Given the description of an element on the screen output the (x, y) to click on. 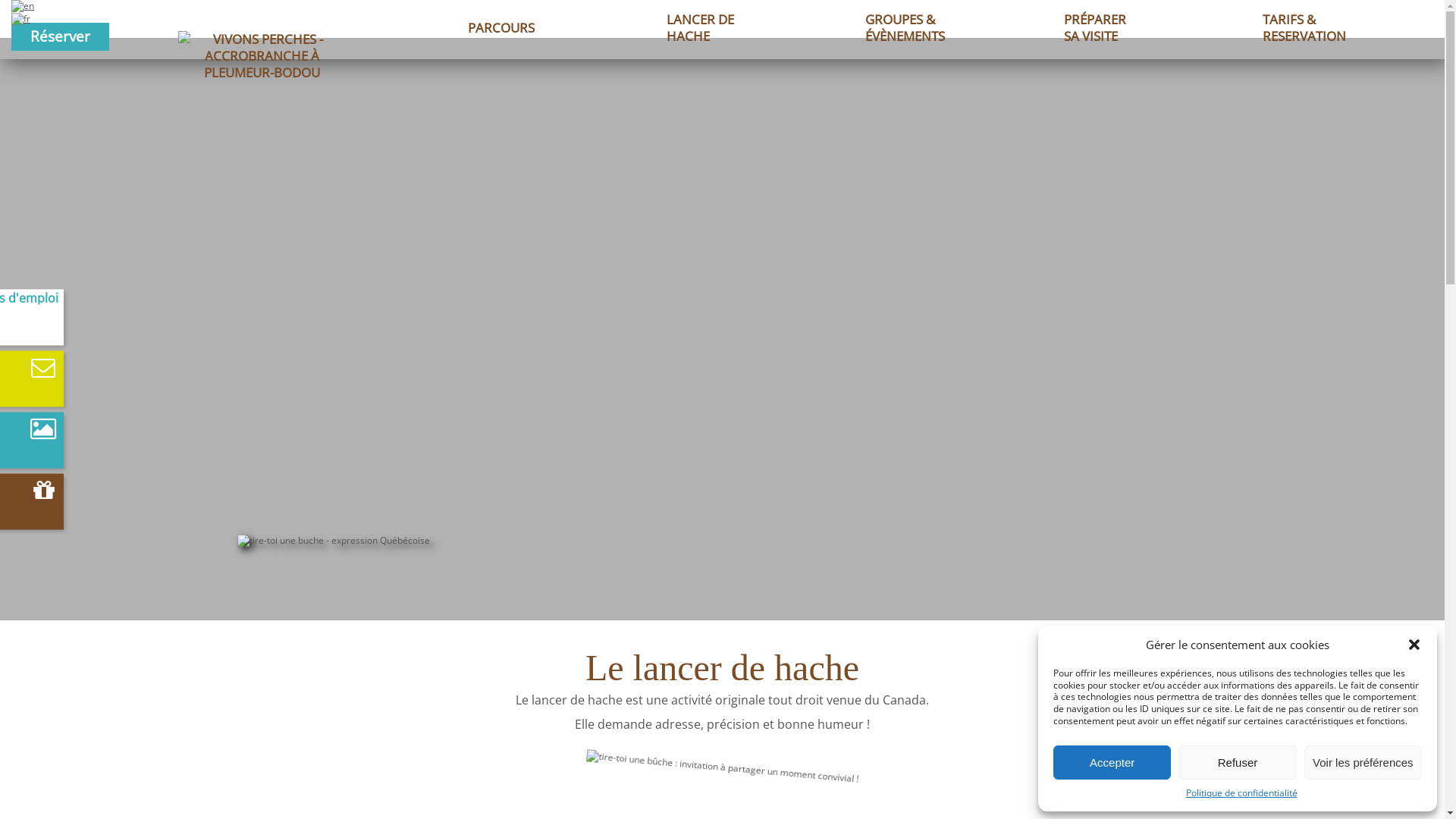
LANCER DE HACHE Element type: text (700, 19)
PARCOURS Element type: text (501, 27)
Accepter Element type: text (1111, 762)
Refuser Element type: text (1236, 762)
English Element type: hover (22, 6)
Accueil Element type: hover (261, 72)
TARIFS & RESERVATION Element type: text (1304, 19)
